Given the description of an element on the screen output the (x, y) to click on. 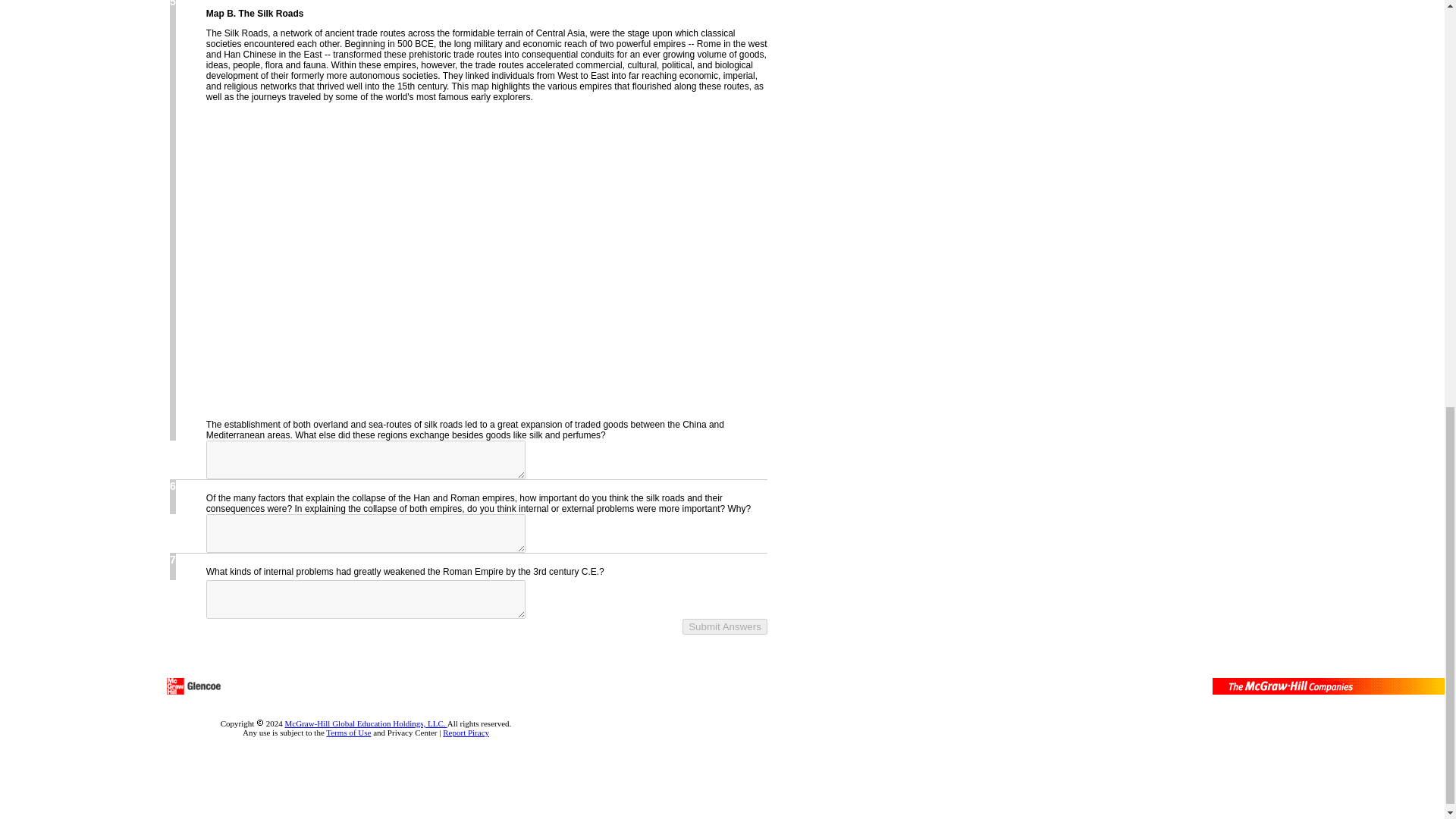
Submit Answers (724, 626)
